Given the description of an element on the screen output the (x, y) to click on. 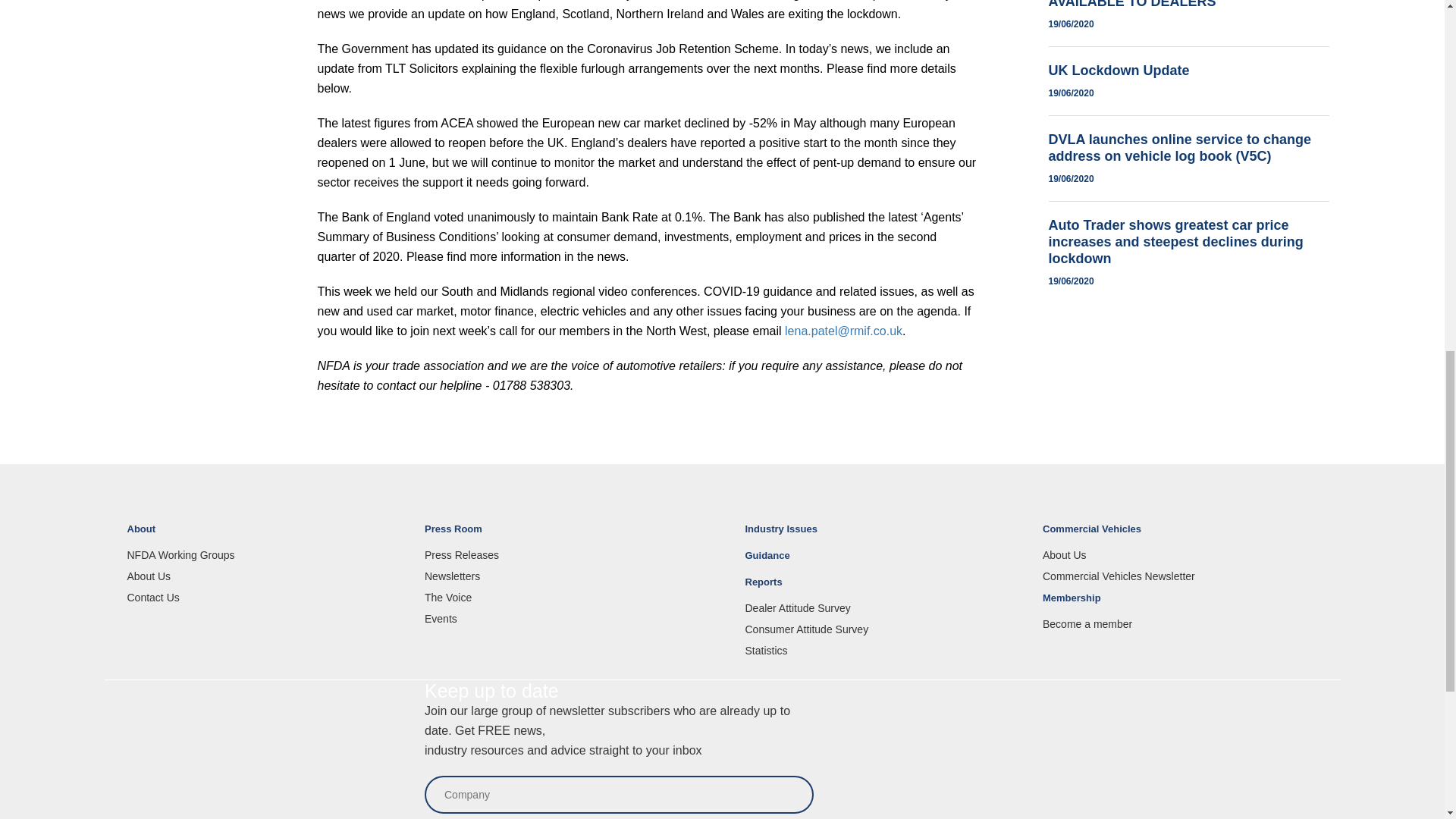
Newsletters (562, 576)
NFDA Working Groups (265, 554)
The Voice (562, 597)
Reports (882, 588)
Press Room (562, 535)
Press Releases (562, 554)
Guidance (882, 561)
About (265, 535)
Industry Issues (882, 535)
About Us (265, 576)
Commercial Vehicles (1179, 535)
Contact Us (265, 597)
Events (562, 618)
Dealer Attitude Survey (882, 607)
